Given the description of an element on the screen output the (x, y) to click on. 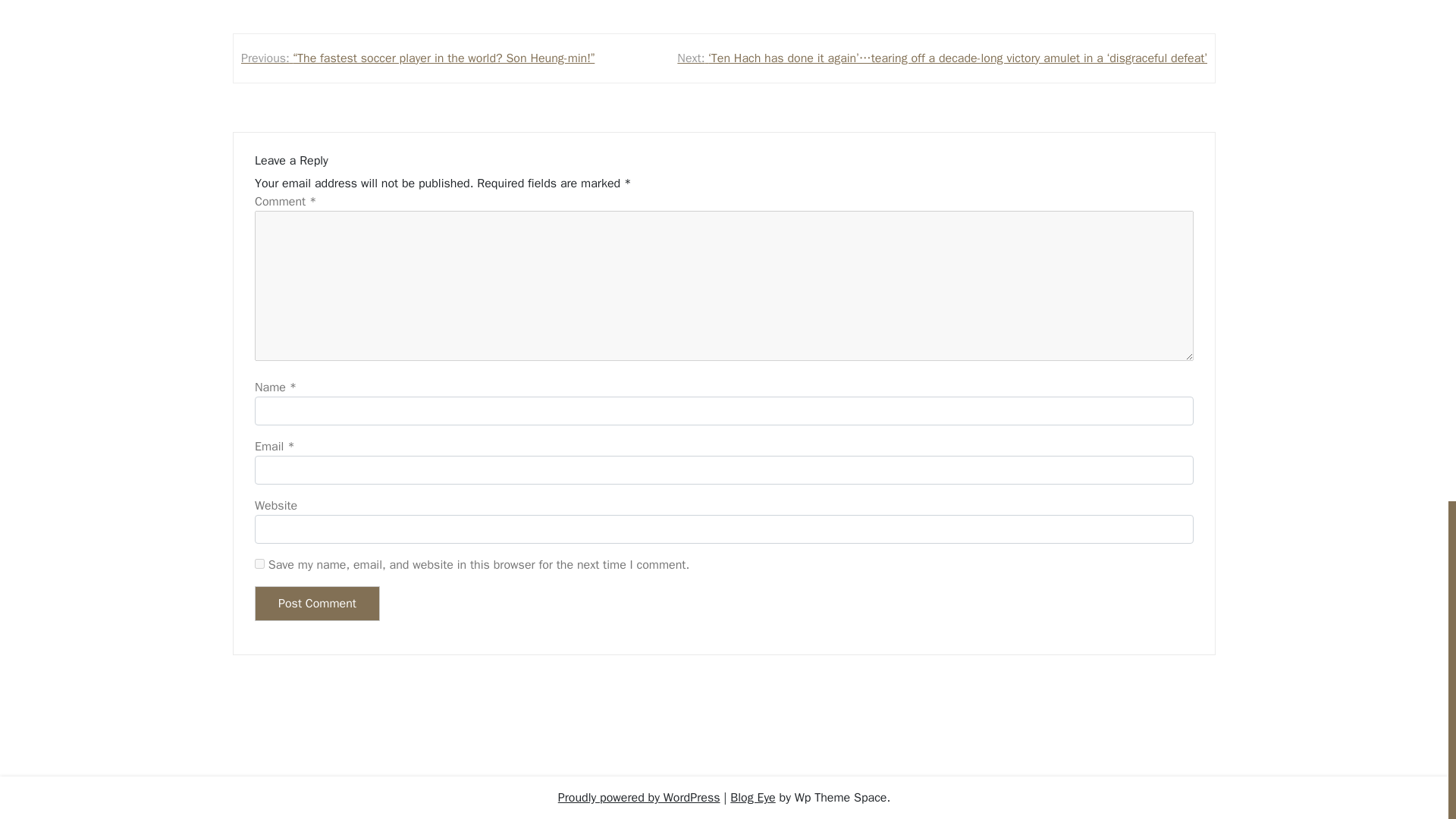
Post Comment (317, 603)
Proudly powered by WordPress (638, 797)
Blog Eye (752, 797)
Post Comment (317, 603)
yes (259, 563)
